Given the description of an element on the screen output the (x, y) to click on. 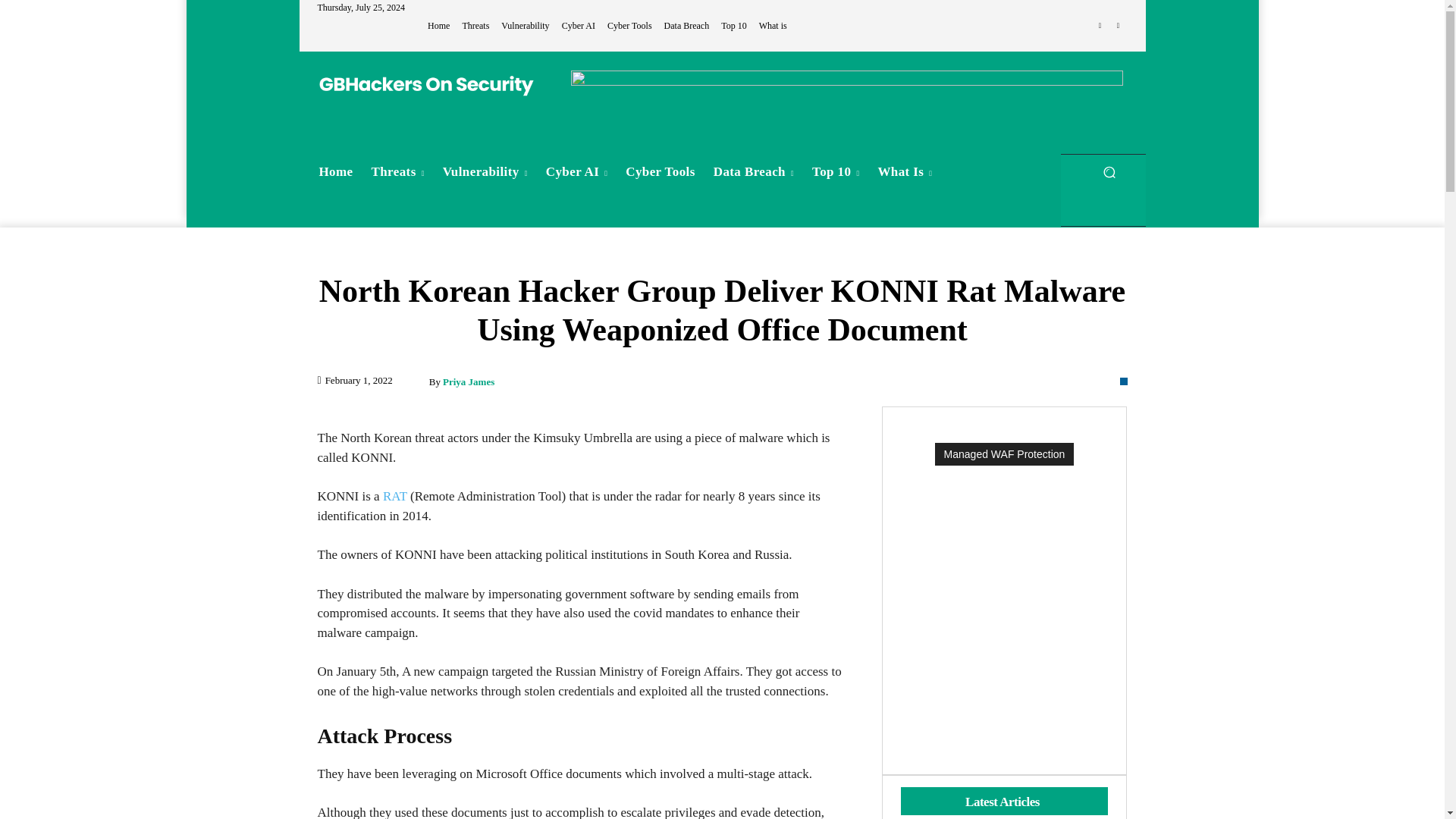
Cyber AI (578, 25)
Home (334, 171)
What is (772, 25)
Data Breach (686, 25)
Top 10 (733, 25)
Home (438, 25)
Linkedin (1099, 25)
Twitter (1117, 25)
Threats (475, 25)
Cyber Tools (629, 25)
Vulnerability (524, 25)
Threats (397, 171)
